Given the description of an element on the screen output the (x, y) to click on. 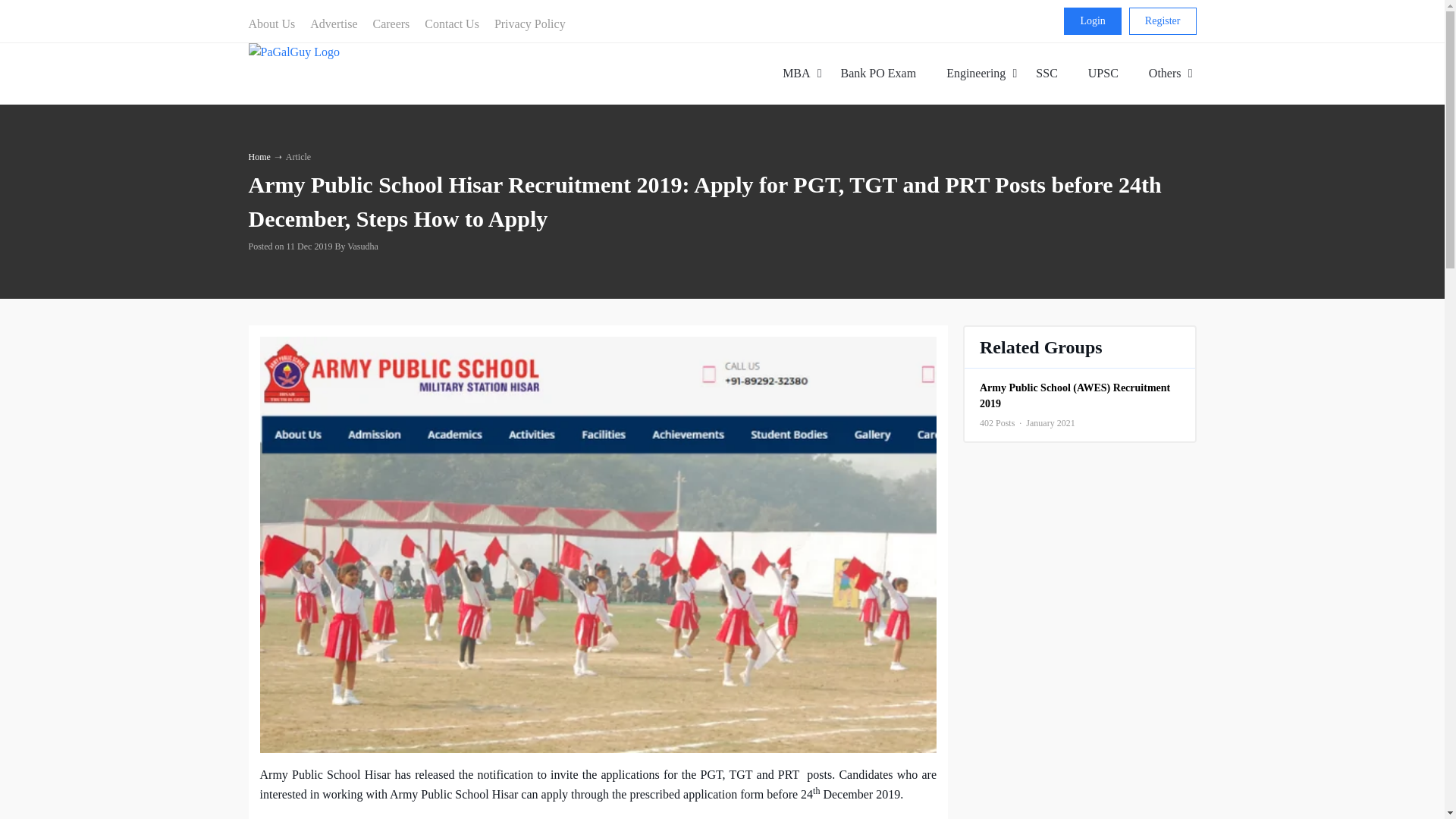
Login (1092, 21)
MBA (796, 73)
Contact Us (451, 24)
Privacy Policy (529, 24)
Advertise (333, 24)
About Us (275, 24)
Register (981, 73)
Careers (1162, 21)
